Given the description of an element on the screen output the (x, y) to click on. 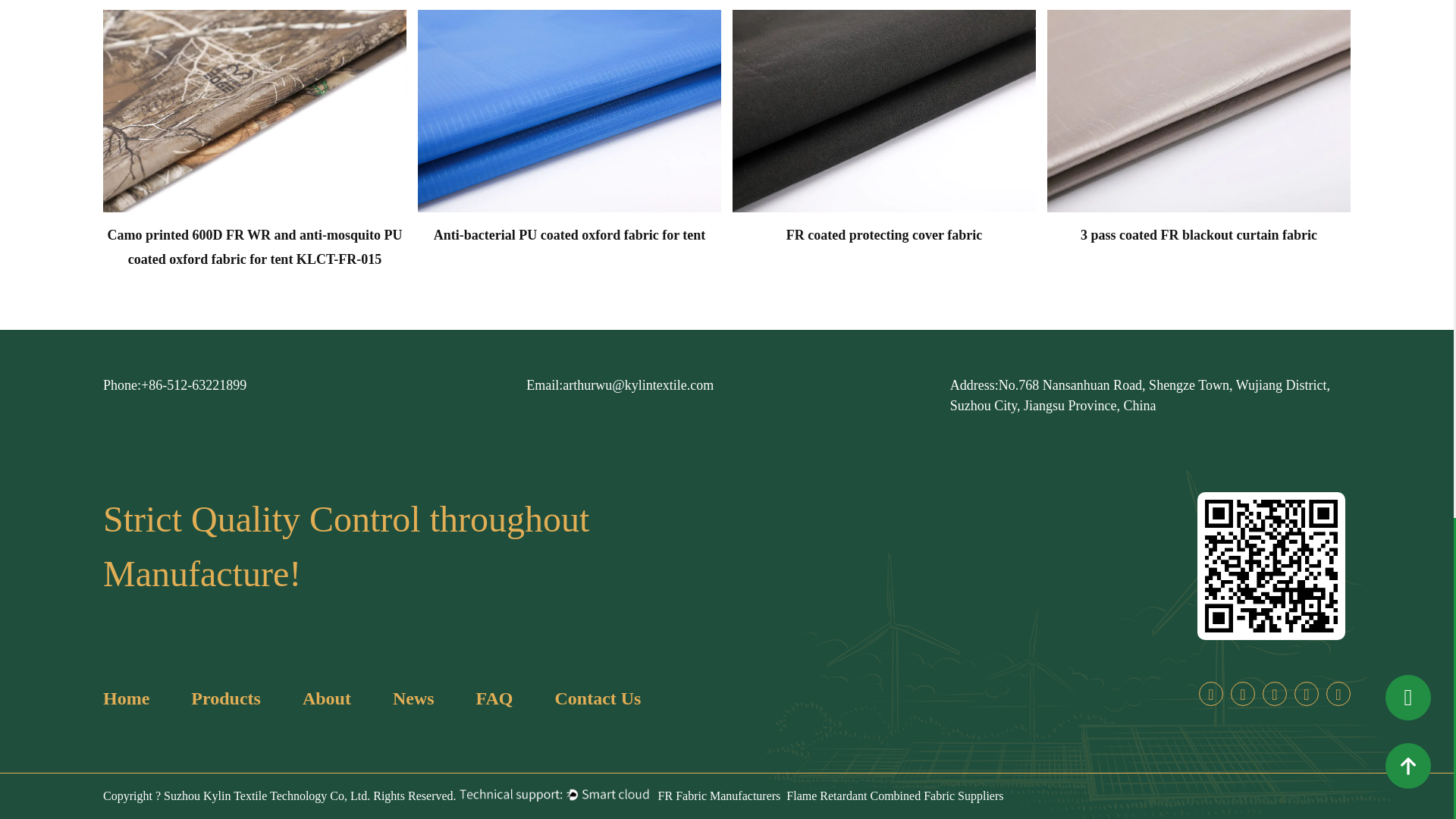
3 pass coated FR blackout curtain fabric (1198, 110)
FR coated protecting cover fabric (883, 110)
